Given the description of an element on the screen output the (x, y) to click on. 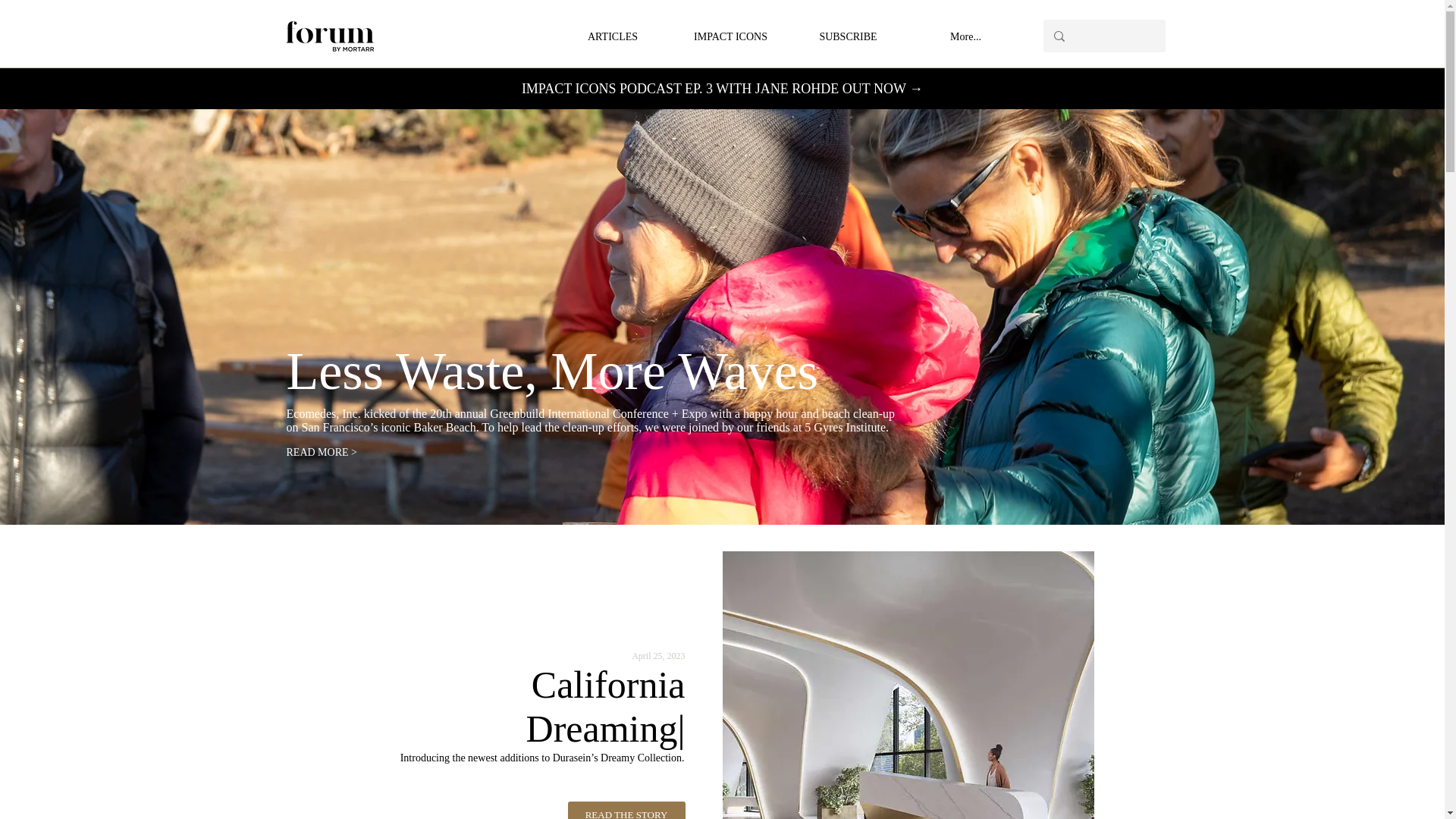
ARTICLES (612, 36)
Less Waste, More Waves (552, 371)
READ THE STORY (625, 810)
IMPACT ICONS (730, 36)
SUBSCRIBE (847, 36)
